Given the description of an element on the screen output the (x, y) to click on. 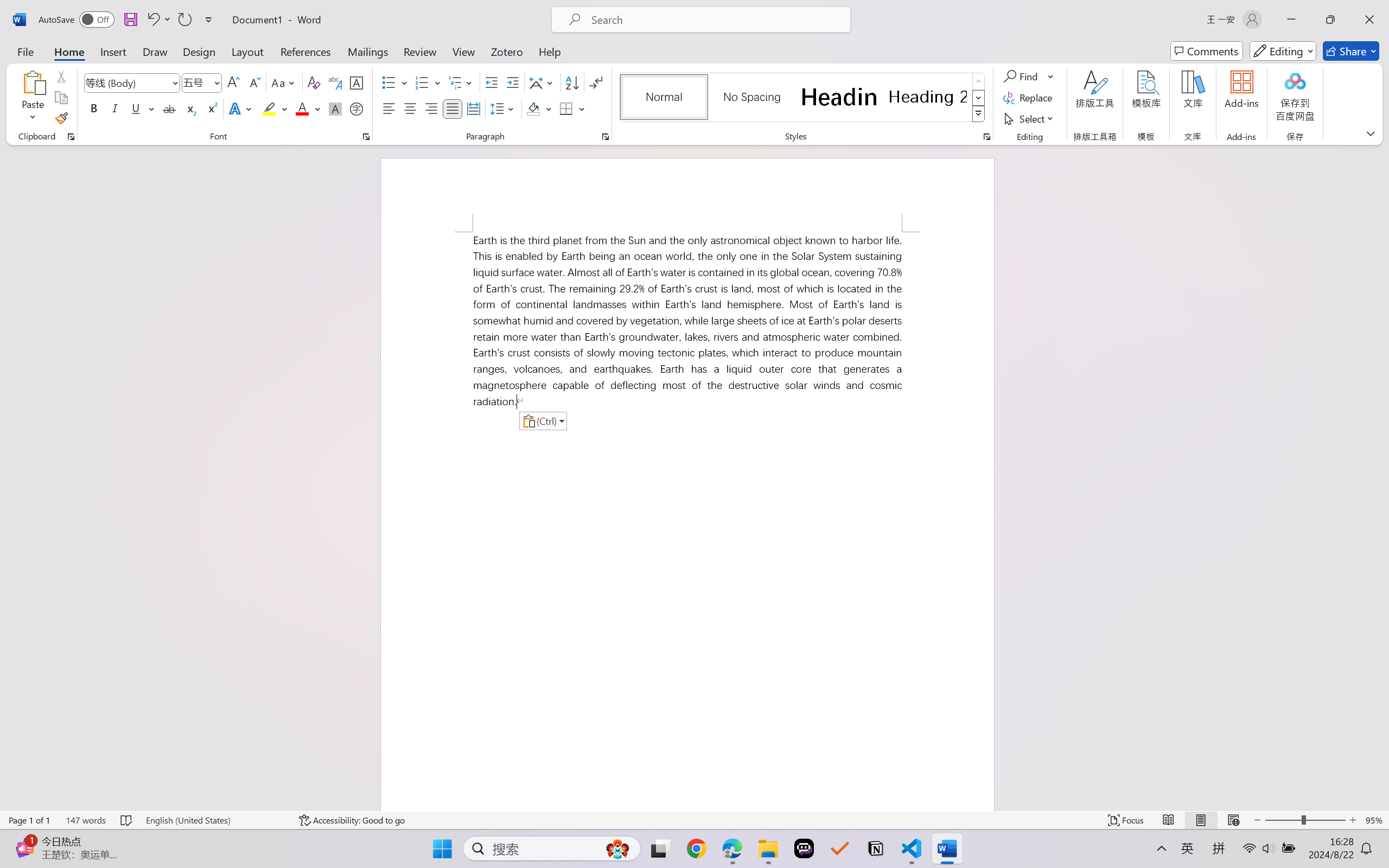
Heading 1 (839, 96)
AutomationID: QuickStylesGallery (802, 97)
Row Down (978, 97)
Help (549, 51)
Asian Layout (542, 82)
